Given the description of an element on the screen output the (x, y) to click on. 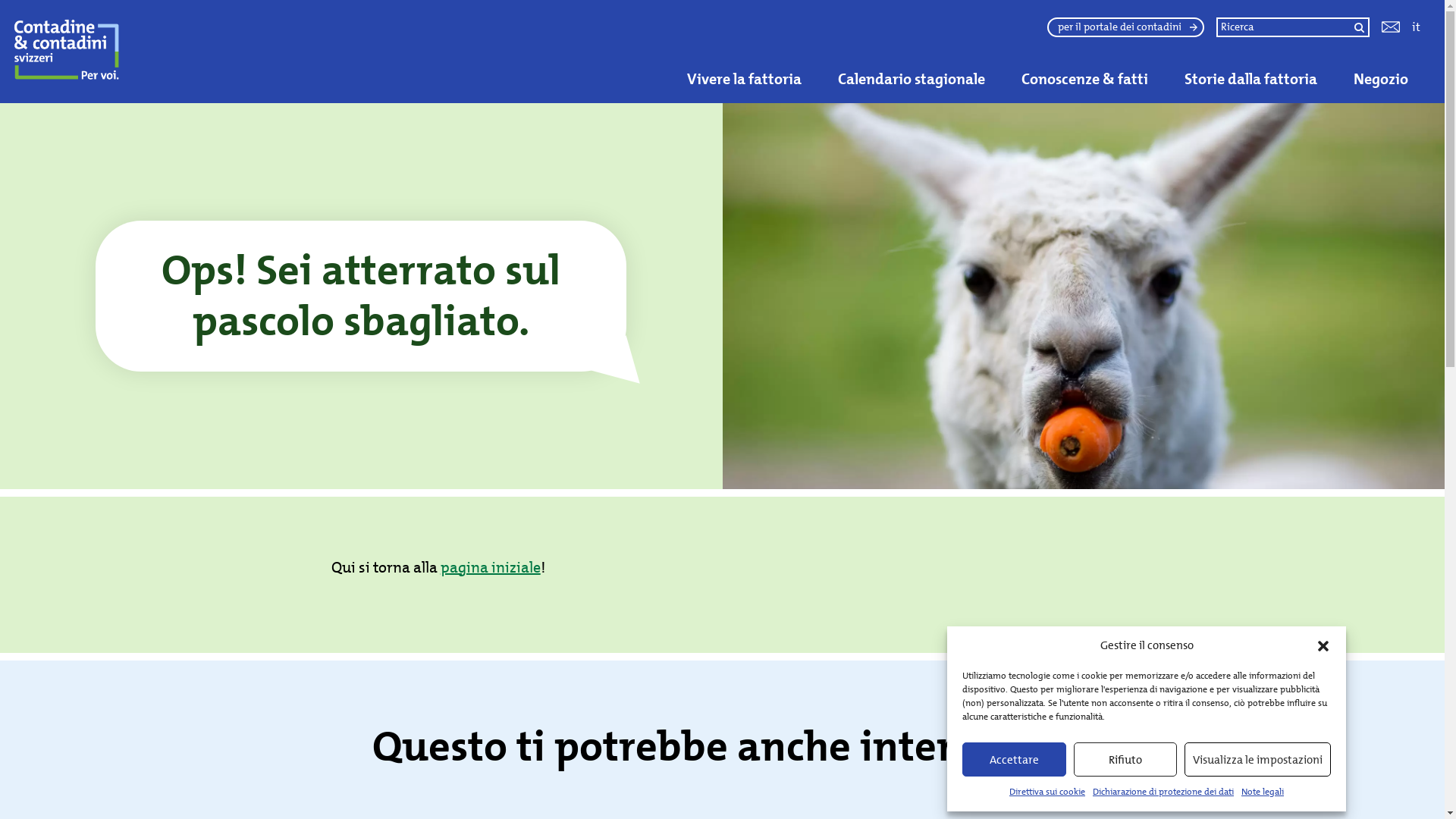
Clima Element type: text (1355, 12)
Zucchero Element type: text (162, 12)
Vivere la fattoria Element type: text (743, 78)
Pali indicatori Element type: text (669, 35)
Negozio Element type: text (1380, 78)
Kontakt Element type: text (1390, 27)
Calendario stagionale Element type: text (911, 78)
Pecore Element type: text (534, 12)
Agriviva Element type: text (140, 35)
Dalla campagna Element type: text (382, 35)
Conigli Element type: text (402, 12)
Contadine & contadini svizzeri Element type: text (124, 51)
Calendario stagionale delle verdure Element type: text (934, 48)
agro-image (in francese) Element type: text (1106, 35)
Calendario stagionale dei frutti Element type: text (710, 48)
Strumenti didattici (in francese) Element type: text (1356, 35)
Calendario stagionale delle erbe Element type: text (497, 48)
Conoscenze & fatti Element type: text (1084, 78)
Vino Element type: text (115, 12)
Pollame Element type: text (583, 12)
Acqua Element type: text (1194, 12)
Visita delle stalle Element type: text (753, 35)
Insetti Element type: text (447, 12)
10 consigli di viaggio attraverso il paesaggio Element type: text (918, 35)
Maiali Element type: text (489, 12)
Dichiarazione di protezione dei dati Element type: text (1162, 792)
Foraggicoltura Element type: text (963, 12)
Ricerca della fattoria Element type: text (56, 26)
Accettare Element type: text (1014, 759)
Bosco Element type: text (1315, 12)
Scuola in fattoria Element type: text (1221, 35)
Energia Element type: text (1401, 12)
Capre Element type: text (309, 12)
Campicoltura Element type: text (740, 12)
Bovini Element type: text (268, 12)
Verdure Element type: text (73, 12)
Visualizza le impostazioni Element type: text (1257, 759)
per il portale dei contadini Element type: text (1125, 27)
Rifiuto Element type: text (1125, 759)
pagina iniziale Element type: text (490, 567)
Direttiva sui cookie Element type: text (1047, 792)
Storie dalla fattoria Element type: text (1250, 78)
Giornata delle porte aperte in fattoria Element type: text (528, 35)
Uova Element type: text (29, 12)
Note legali Element type: text (1262, 792)
